Given the description of an element on the screen output the (x, y) to click on. 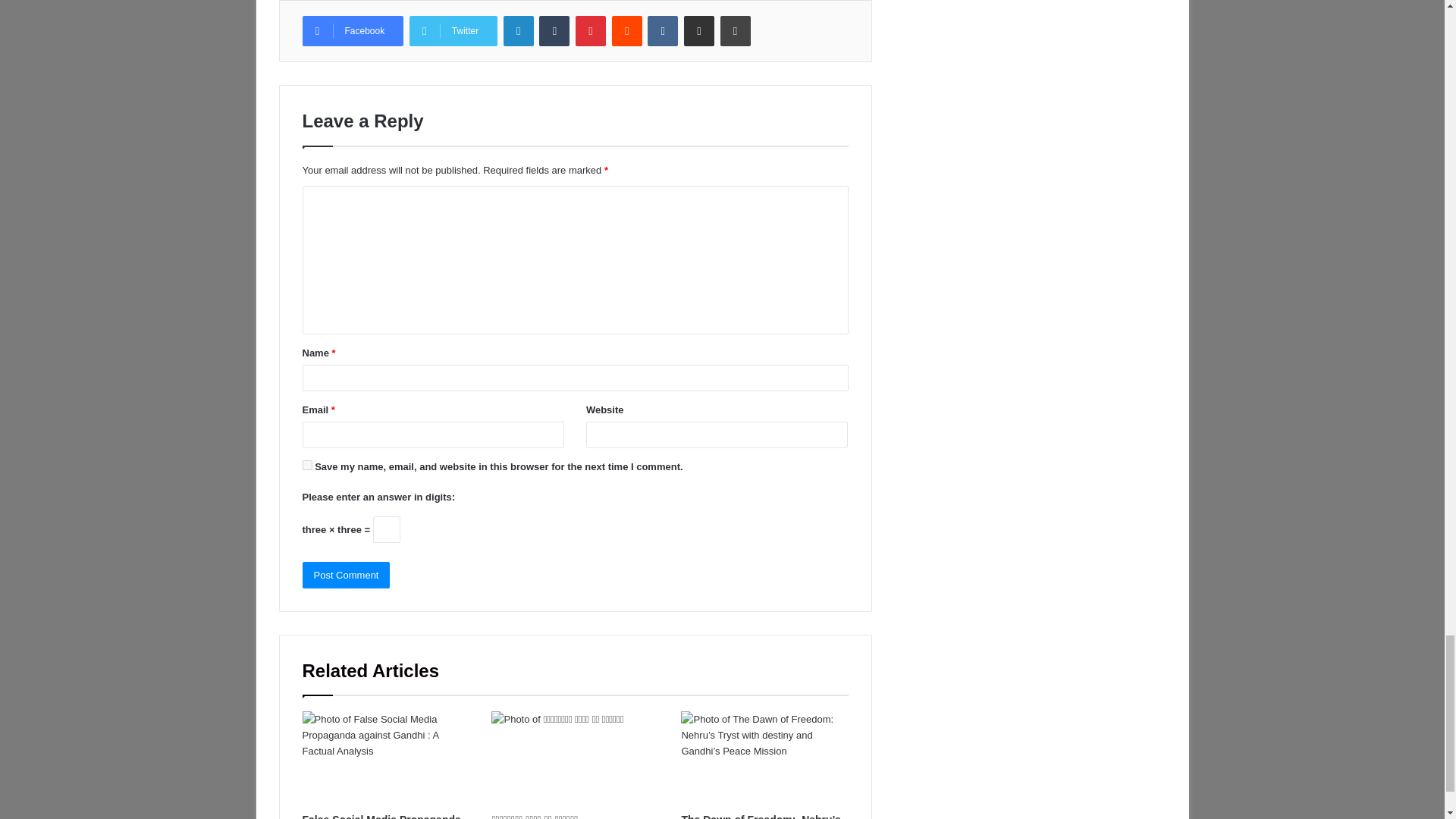
VKontakte (662, 30)
Twitter (453, 30)
Reddit (626, 30)
Post Comment (345, 574)
Facebook (352, 30)
LinkedIn (518, 30)
yes (306, 465)
Tumblr (553, 30)
Share via Email (699, 30)
Pinterest (590, 30)
